Given the description of an element on the screen output the (x, y) to click on. 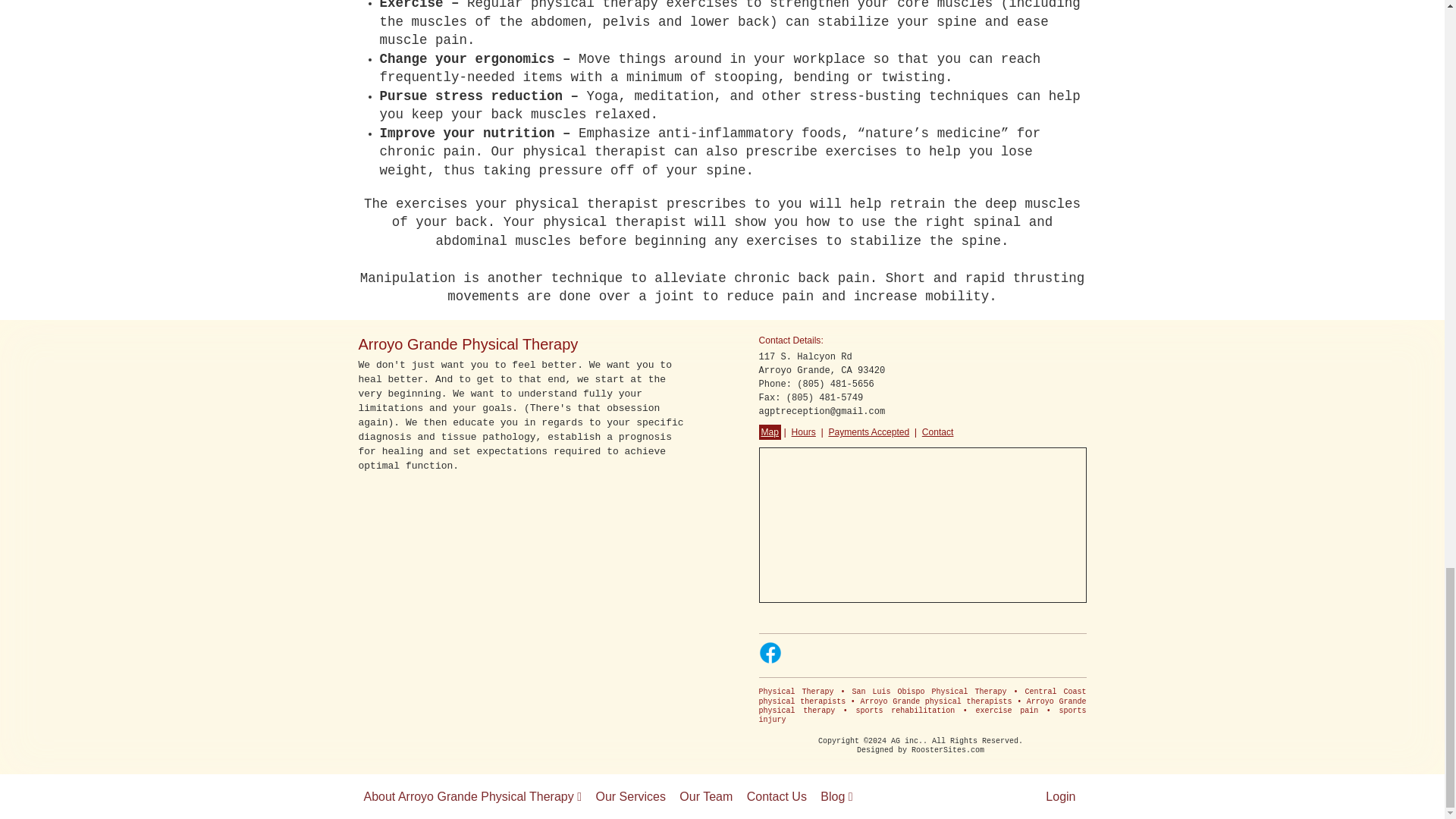
Payments Accepted (868, 432)
Contact (938, 432)
Map (769, 432)
Hours (803, 432)
